Given the description of an element on the screen output the (x, y) to click on. 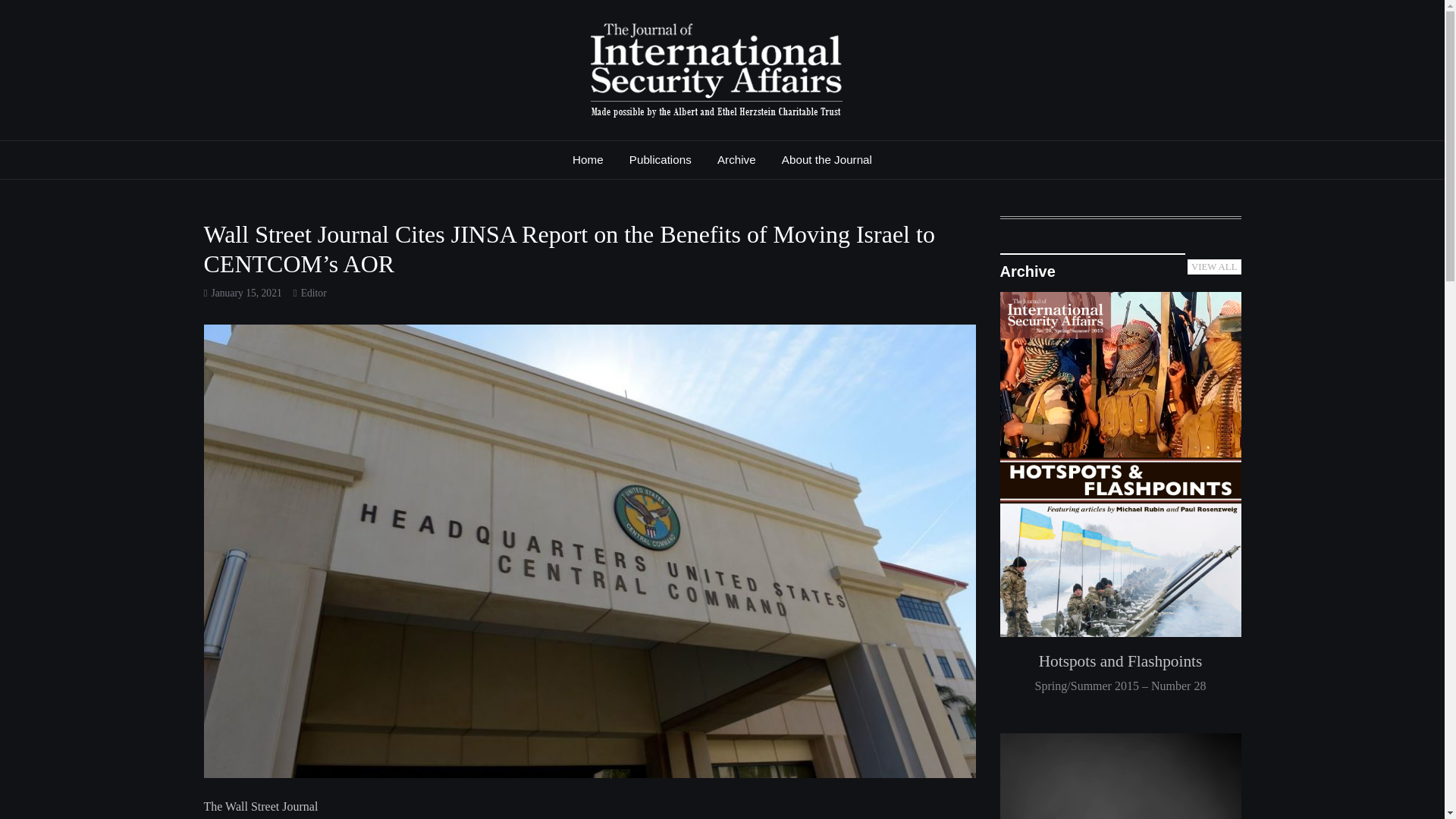
Hotspots and Flashpoints (1119, 661)
Publications (660, 159)
Home (587, 159)
January 15, 2021 (246, 292)
Editor (313, 292)
VIEW ALL (1214, 266)
Archive (736, 159)
The Journal of International Security Affairs (581, 146)
About the Journal (826, 159)
